Given the description of an element on the screen output the (x, y) to click on. 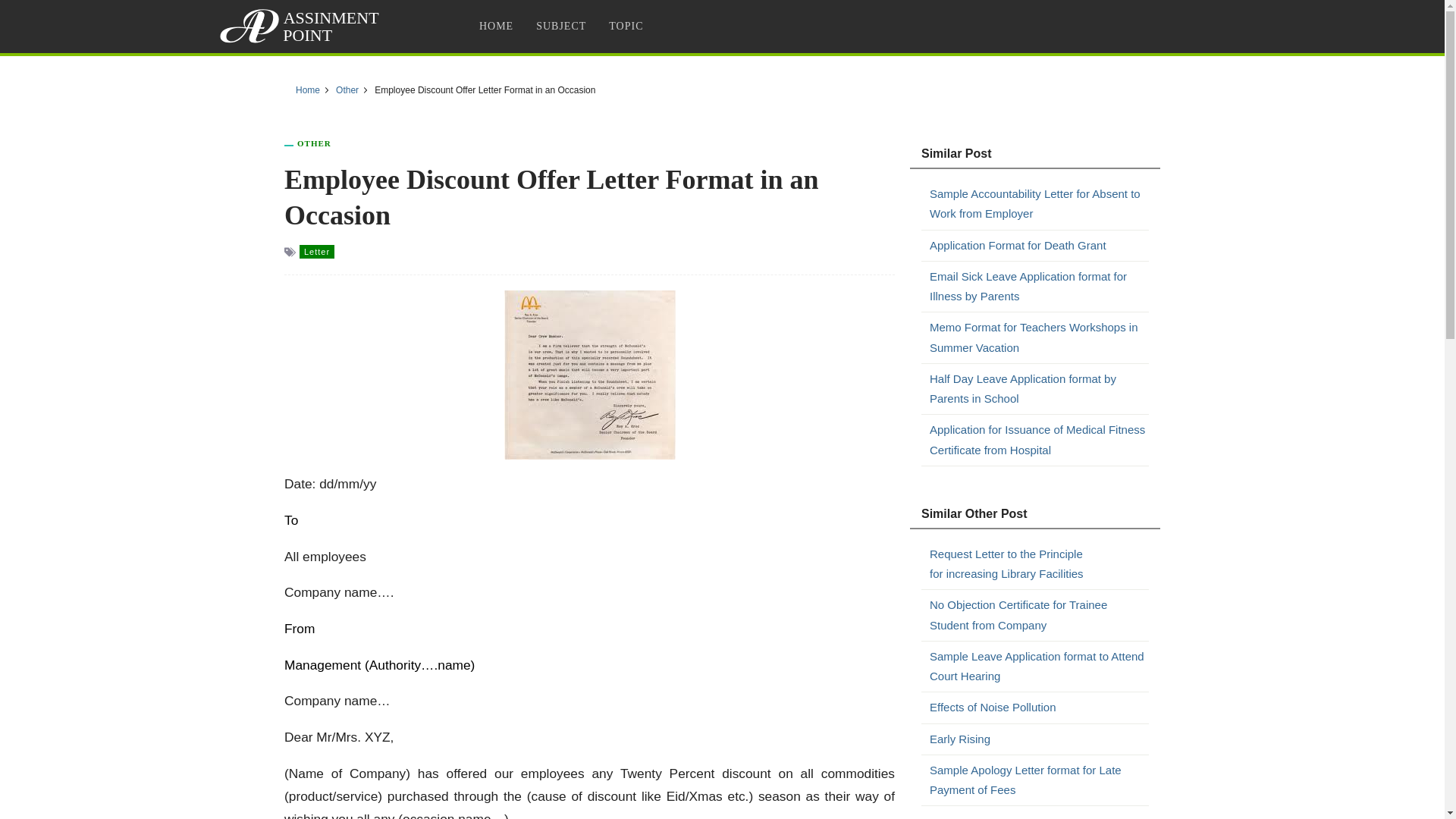
Early Rising (1039, 739)
Memo Format for Teachers Workshops in Summer Vacation (1039, 337)
Sample Leave Application format to Attend Court Hearing (1039, 667)
Assignment Point (301, 26)
Memo Format for Teachers Workshops in Summer Vacation (1039, 337)
Effects of Noise Pollution (1039, 707)
